Given the description of an element on the screen output the (x, y) to click on. 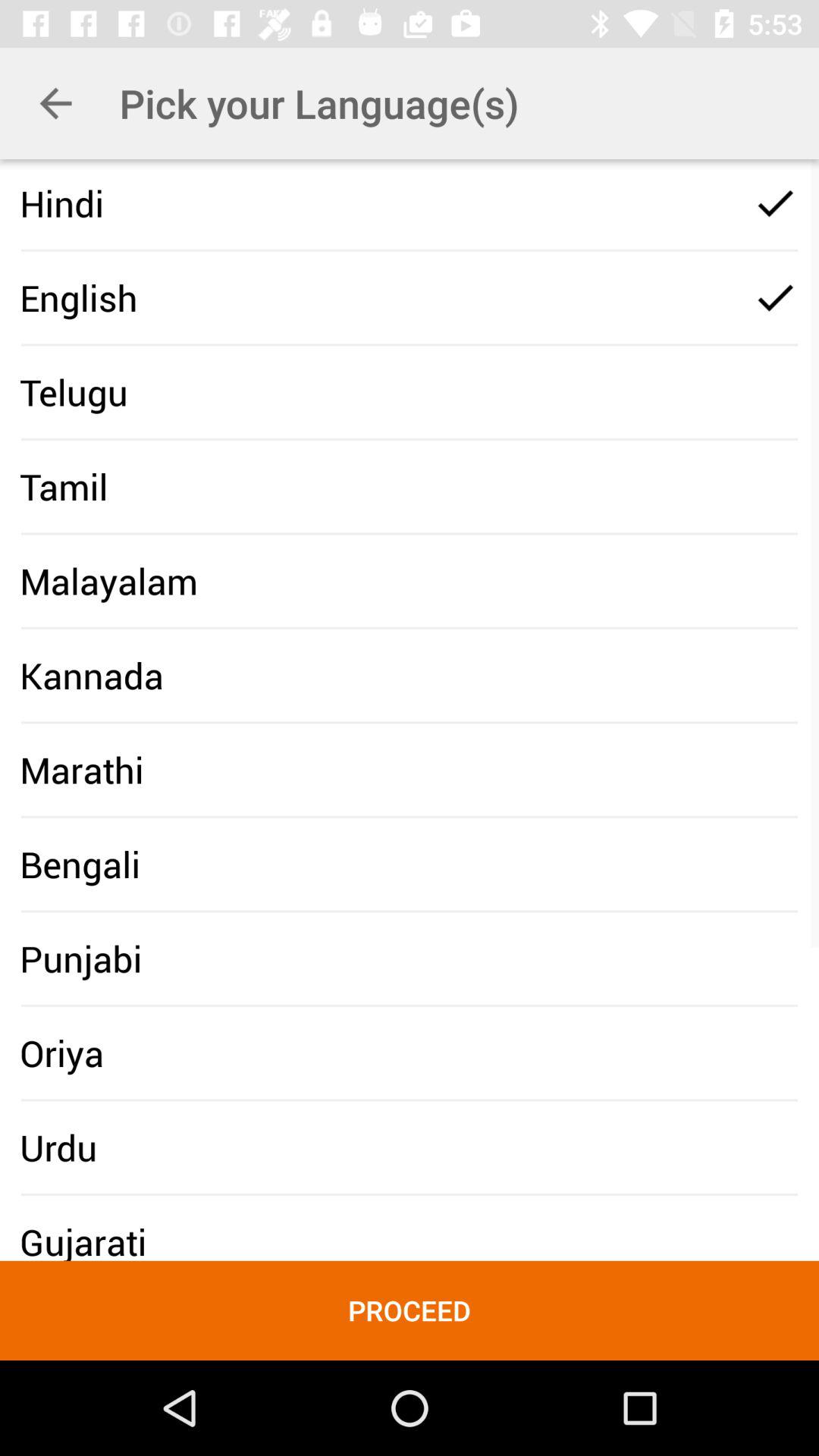
flip to the oriya (61, 1052)
